Given the description of an element on the screen output the (x, y) to click on. 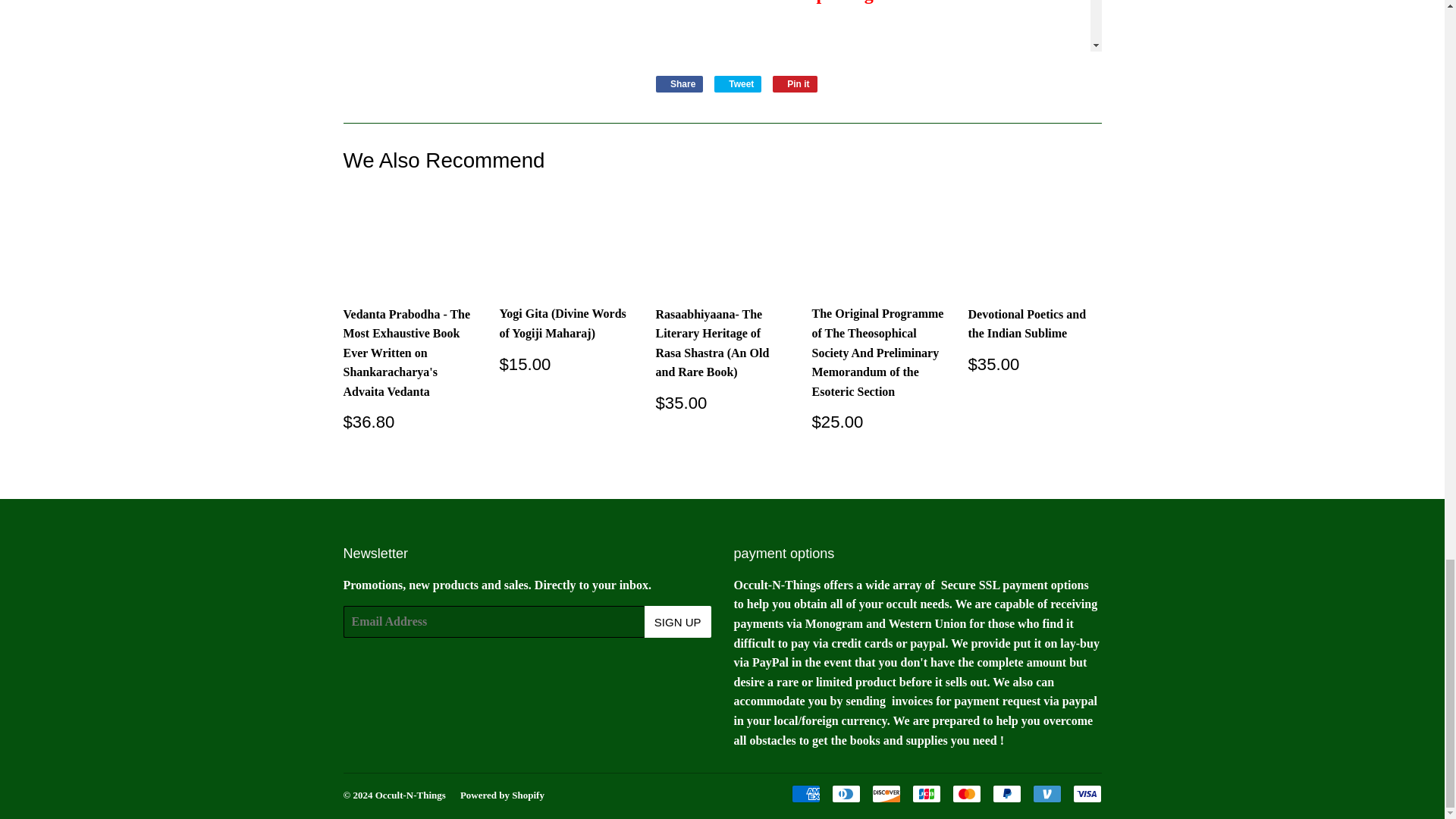
Visa (794, 84)
PayPal (1085, 793)
American Express (1005, 793)
Tweet on Twitter (806, 793)
Mastercard (737, 84)
JCB (966, 793)
Share on Facebook (925, 793)
Venmo (679, 84)
Pin on Pinterest (1046, 793)
Discover (679, 84)
Diners Club (737, 84)
